Given the description of an element on the screen output the (x, y) to click on. 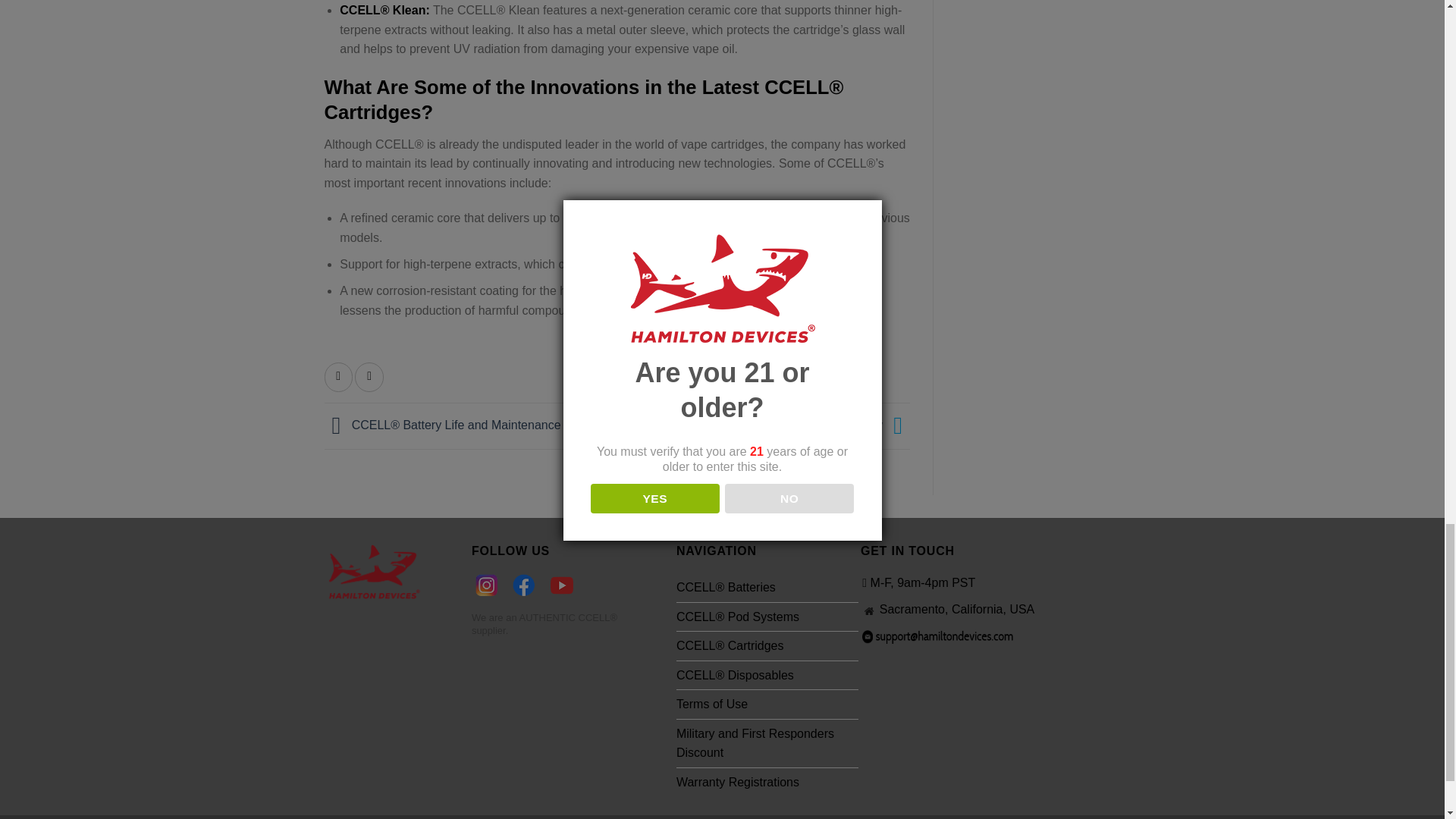
Share on Facebook (338, 377)
Share on Twitter (369, 377)
